Given the description of an element on the screen output the (x, y) to click on. 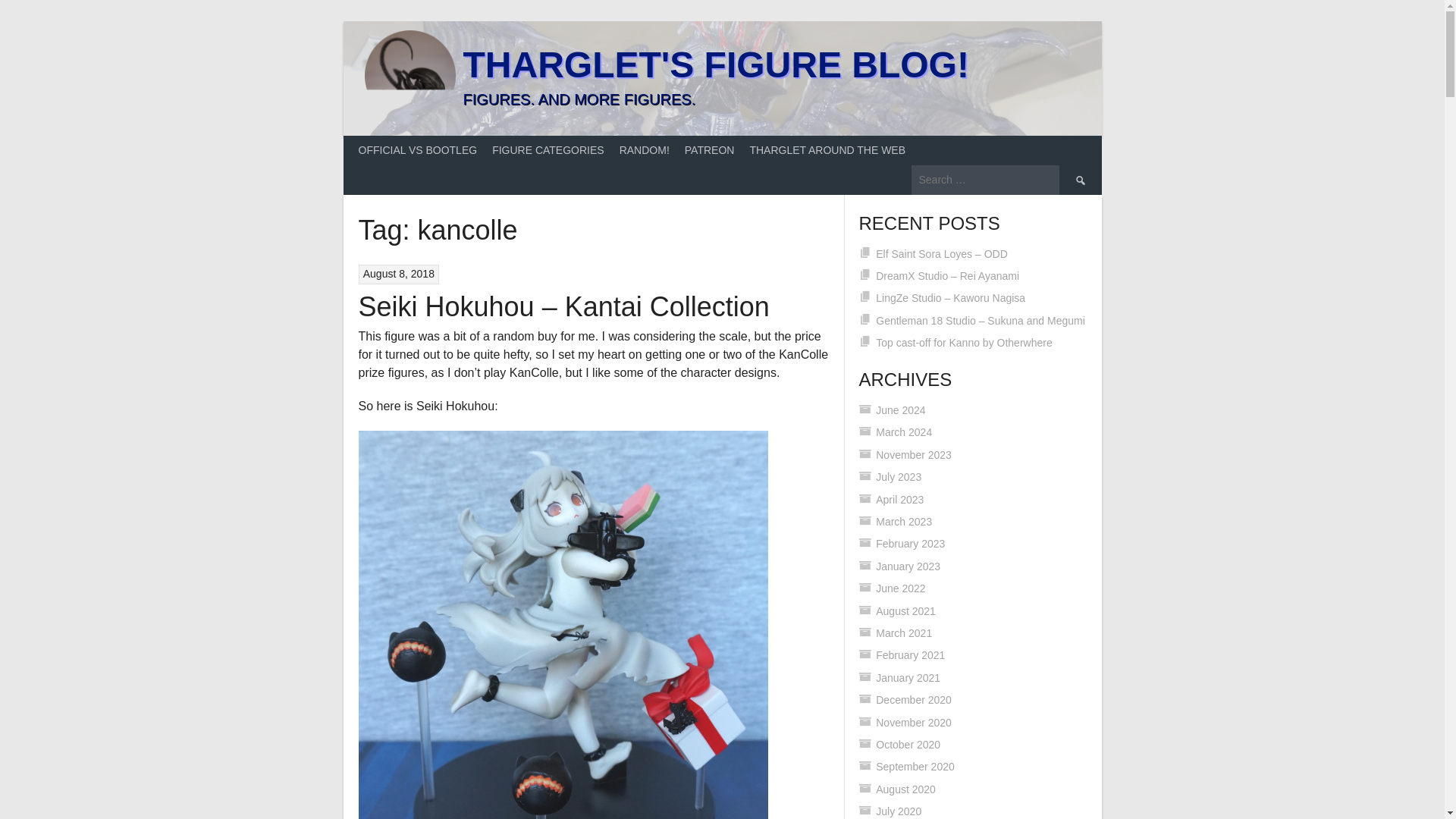
THARGLET'S FIGURE BLOG! (715, 65)
OFFICIAL VS BOOTLEG (417, 150)
FIGURE CATEGORIES (547, 150)
PATREON (709, 150)
THARGLET AROUND THE WEB (826, 150)
August 8, 2018 (397, 273)
Search (1079, 179)
RANDOM! (644, 150)
